Given the description of an element on the screen output the (x, y) to click on. 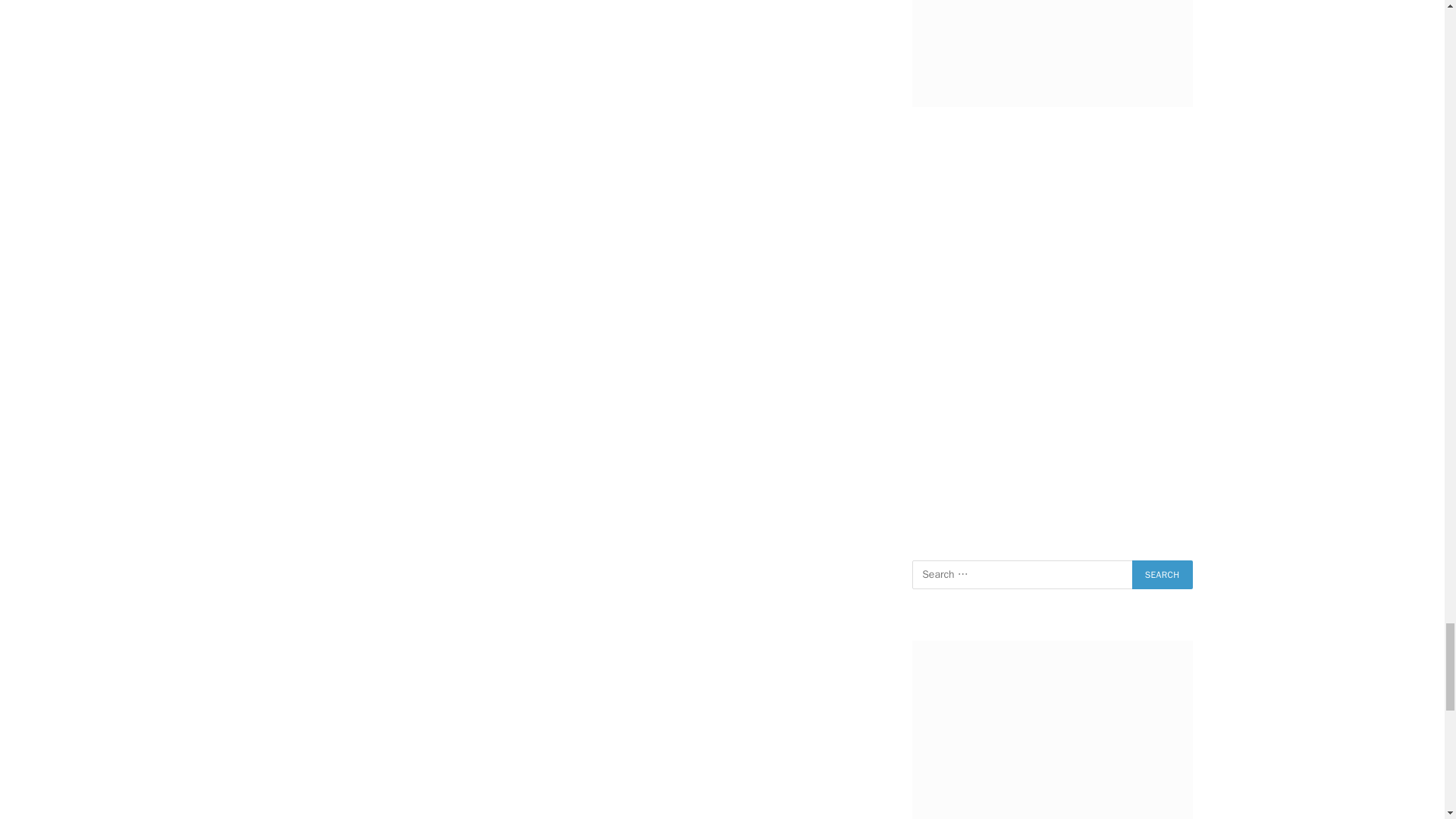
Search (1162, 574)
Search (1162, 574)
